Given the description of an element on the screen output the (x, y) to click on. 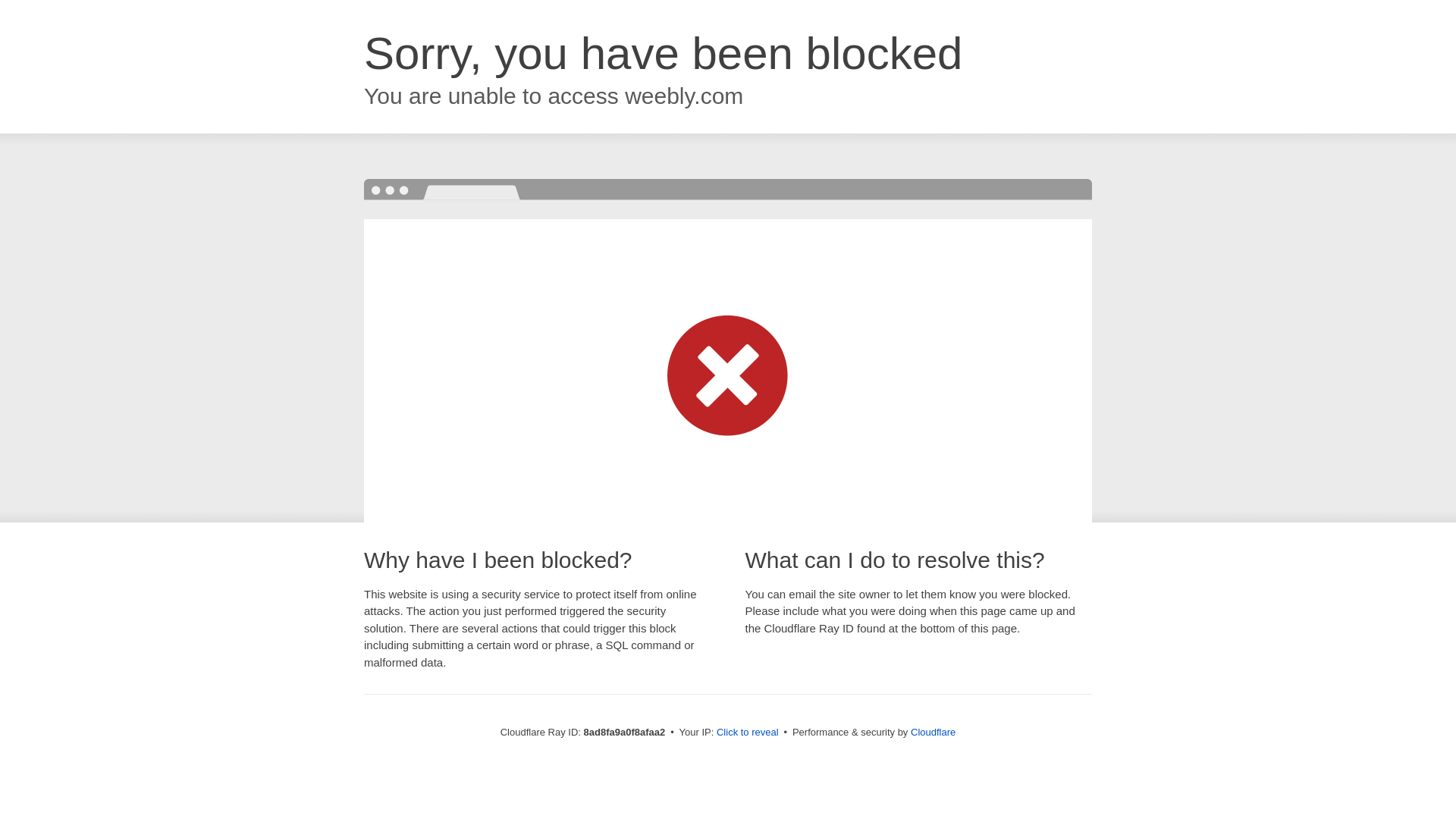
Click to reveal (747, 732)
Cloudflare (933, 731)
